Given the description of an element on the screen output the (x, y) to click on. 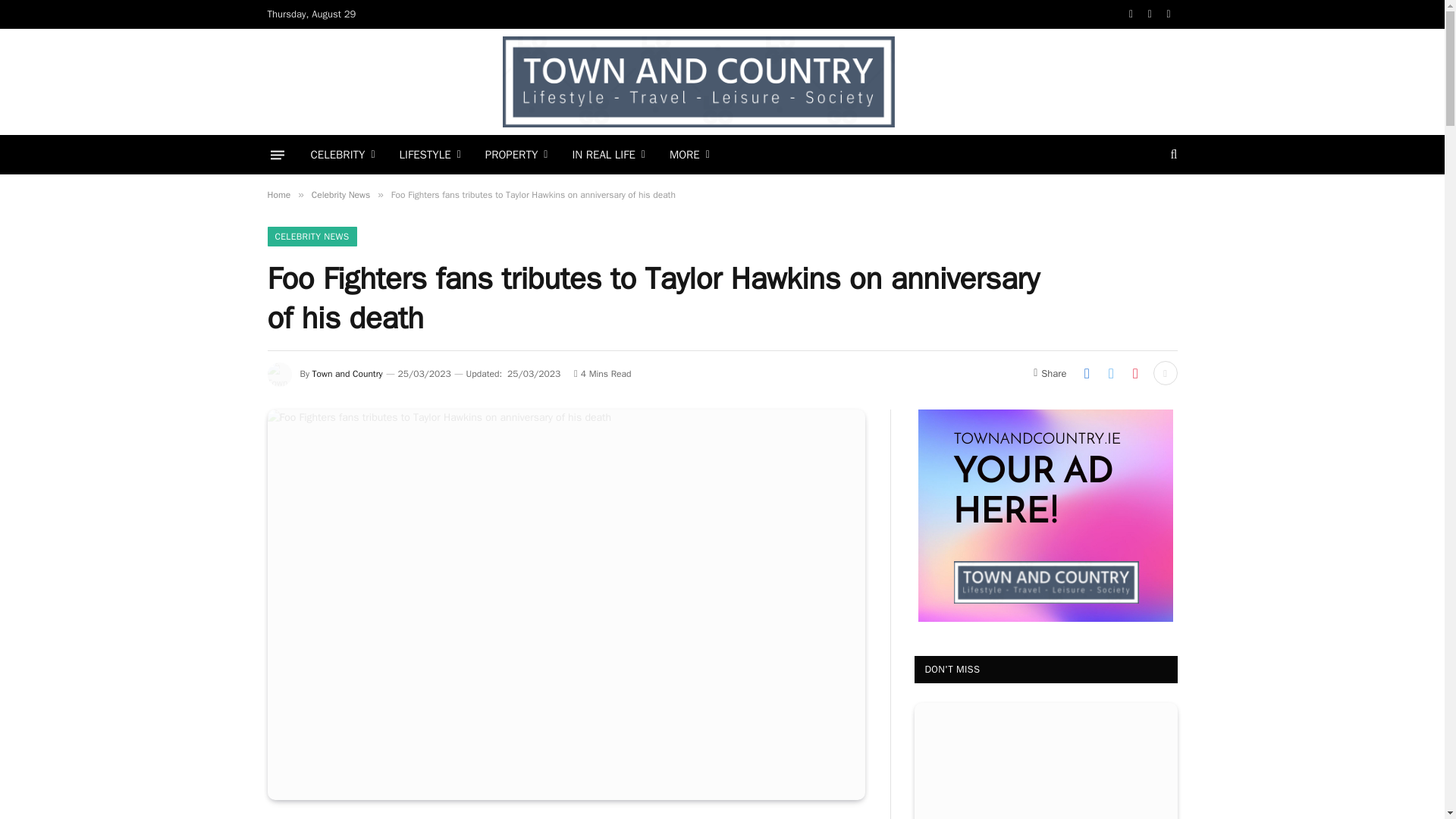
LIFESTYLE (430, 154)
CELEBRITY (342, 154)
Town and Country (697, 81)
